Given the description of an element on the screen output the (x, y) to click on. 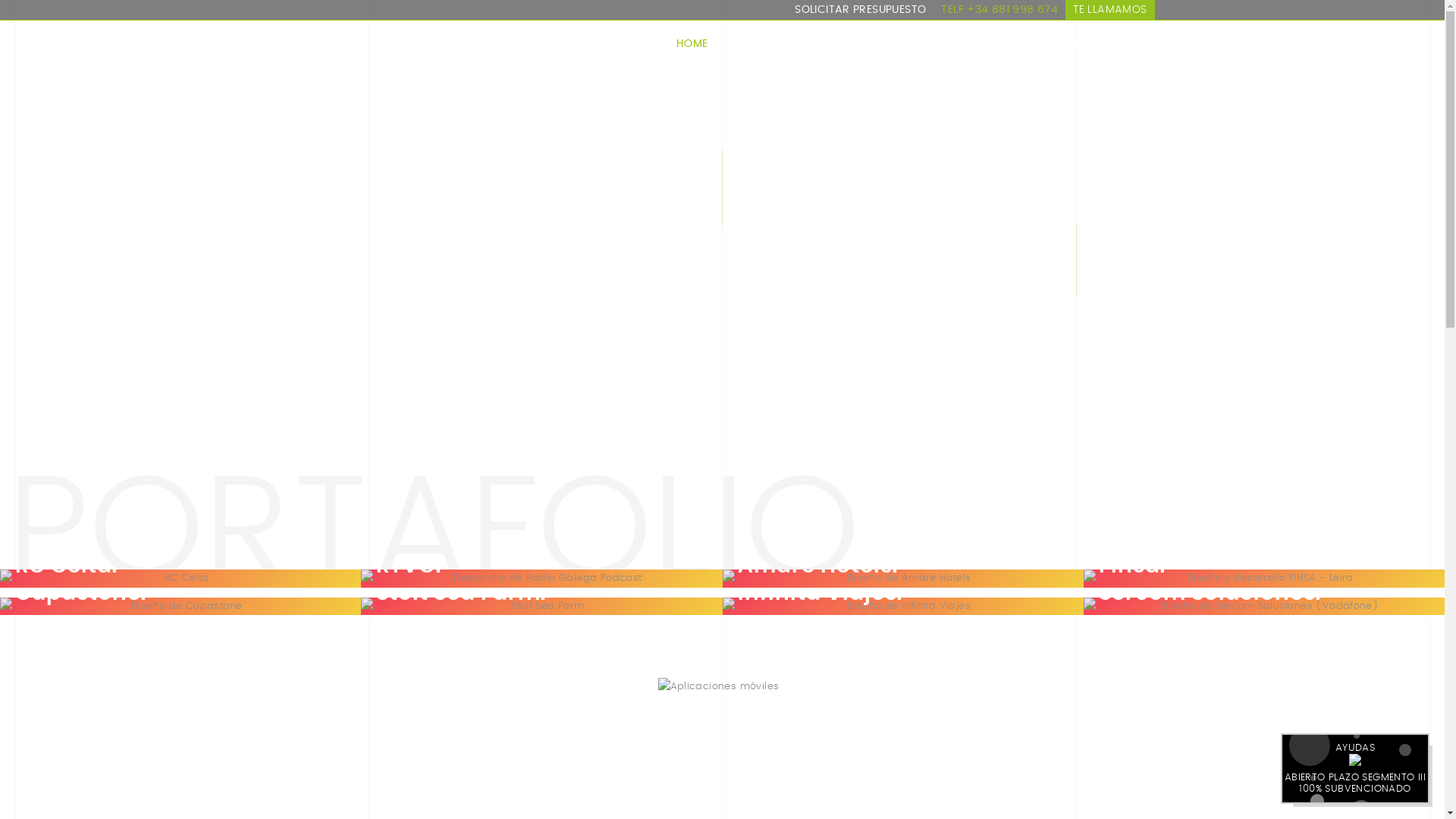
BLOG Element type: text (1038, 54)
SOLICITAR PRESUPUESTO Element type: text (860, 9)
TE LLAMAMOS Element type: text (1109, 9)
PORTAFOLIO Element type: text (968, 54)
AYUDAS
ABIERTO PLAZO SEGMENTO III
100% SUBVENCIONADO Element type: text (1354, 768)
QUIENES SOMOS Element type: text (771, 54)
TELF +34 881 998 674 Element type: text (999, 9)
CONTACTAR Element type: text (1108, 54)
HOME Element type: text (691, 54)
